Given the description of an element on the screen output the (x, y) to click on. 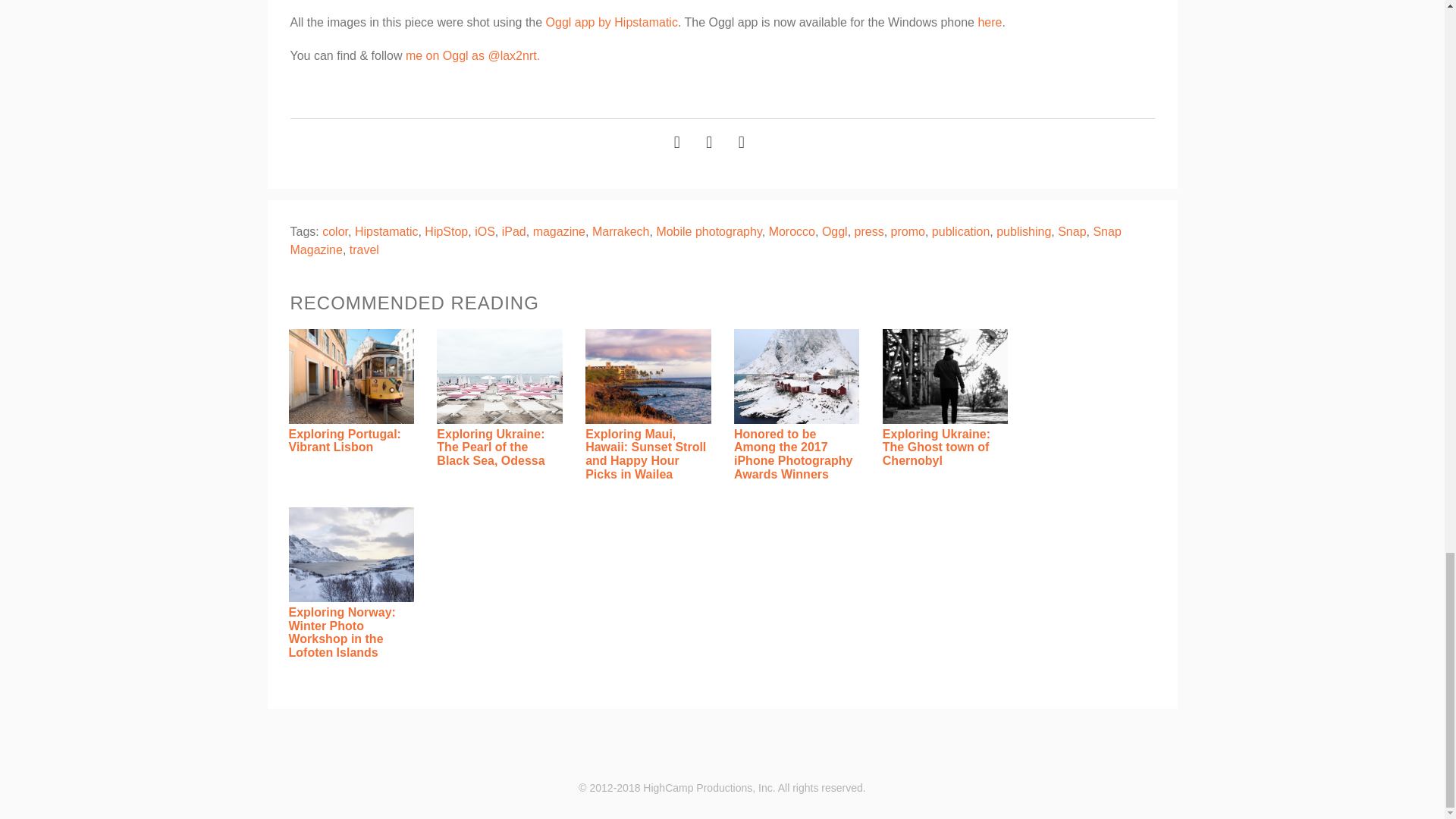
publishing (1023, 231)
Marrakech (620, 231)
Hipstamatic (387, 231)
press (868, 231)
Oggl app by Hipstamatic (612, 21)
Mobile photography (708, 231)
publication (960, 231)
Oggl (834, 231)
Snap Magazine (705, 240)
iPad (513, 231)
here (988, 21)
color (334, 231)
Snap (1072, 231)
promo (907, 231)
HipStop (446, 231)
